Given the description of an element on the screen output the (x, y) to click on. 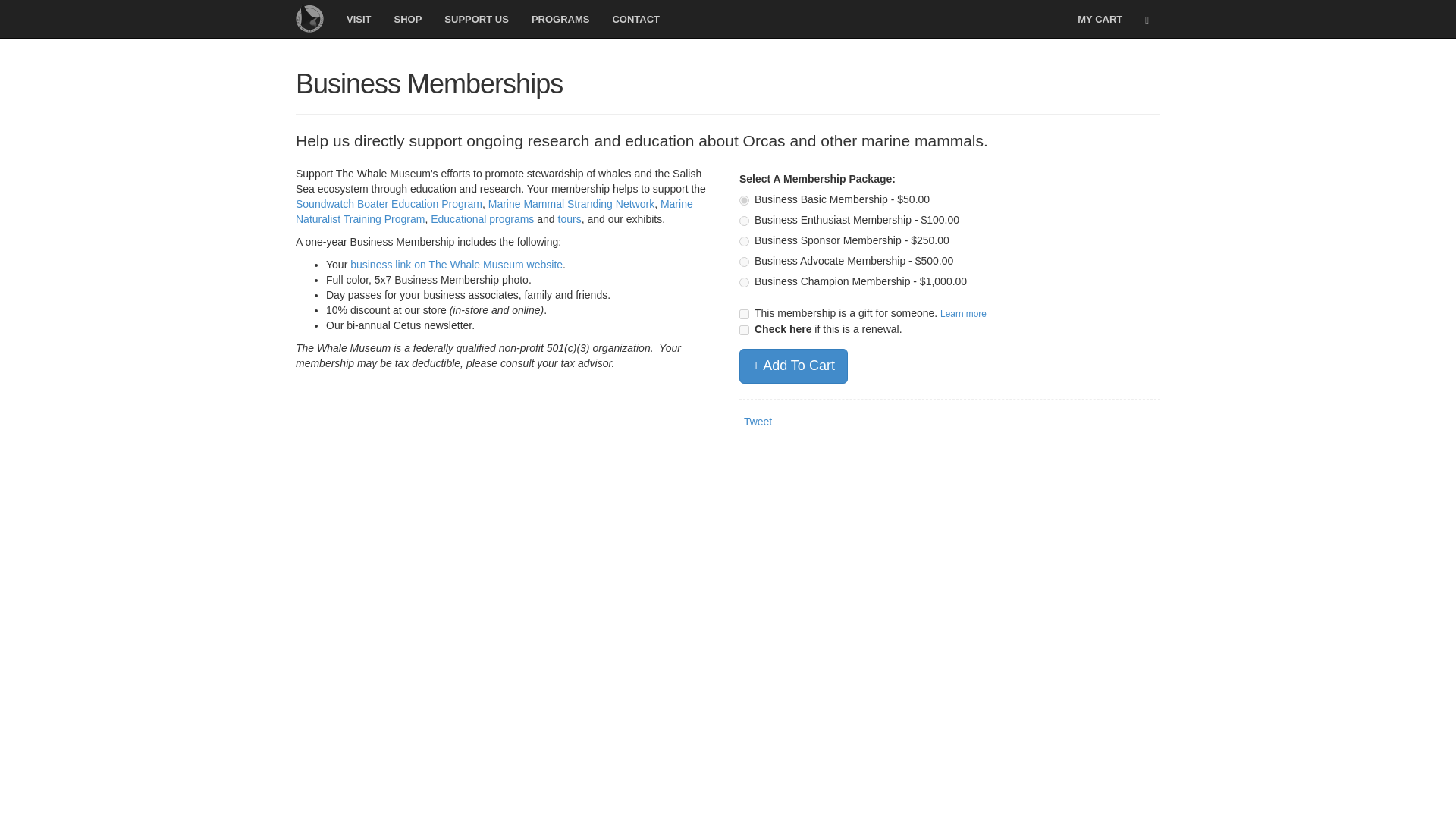
350040797 (744, 200)
Gift Memberships (963, 313)
Marine Naturalist Training Program (494, 211)
SUPPORT US (475, 18)
350041761 (744, 241)
350041963 (744, 261)
Marine Mammal Stranding Network (570, 203)
Group Tours (568, 218)
Soundwatch Boater Education Program (388, 203)
VISIT (358, 18)
